Given the description of an element on the screen output the (x, y) to click on. 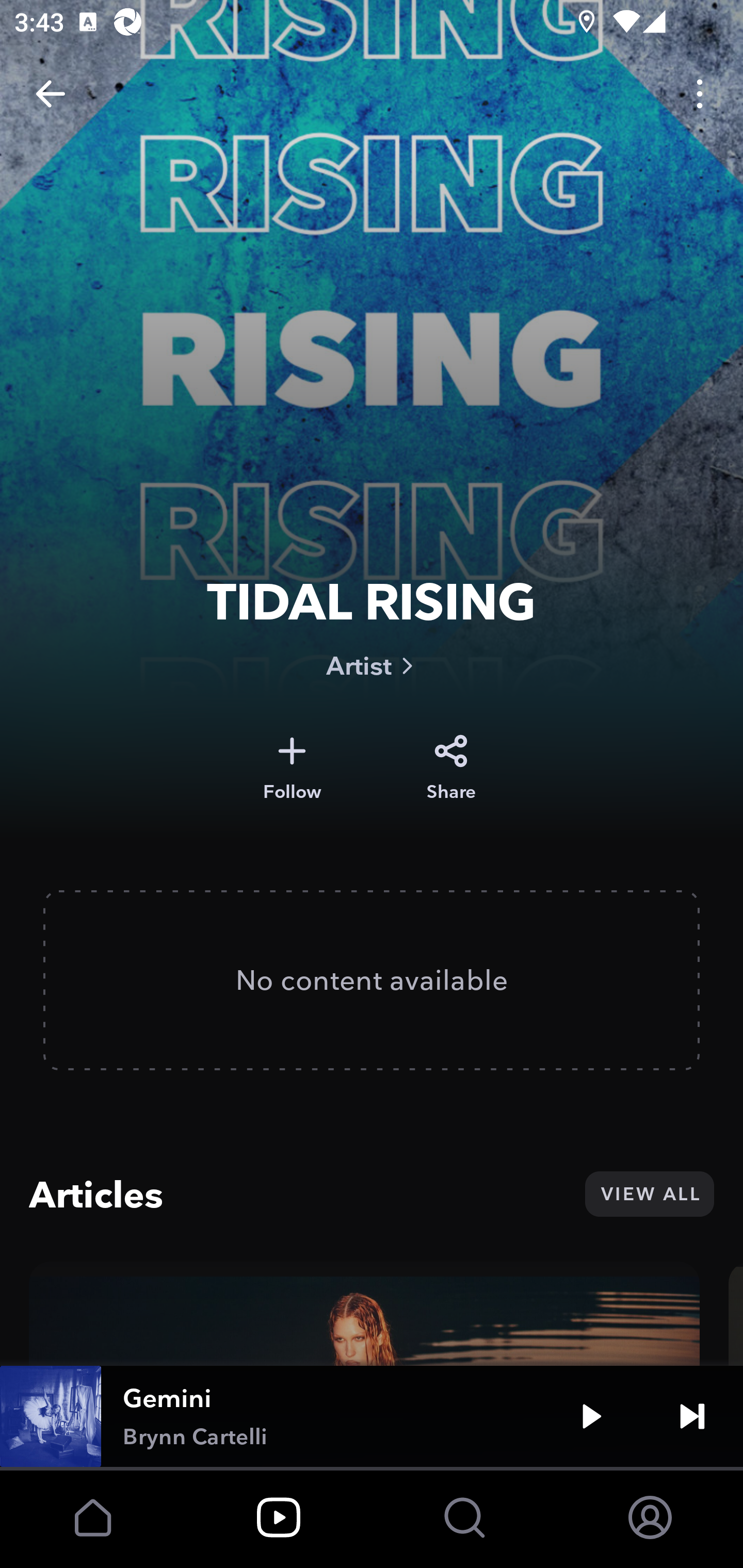
Options (699, 93)
Artist (371, 665)
Follow (291, 767)
Share (450, 767)
VIEW ALL (649, 1193)
Gemini Brynn Cartelli Play (371, 1416)
Play (590, 1416)
